Given the description of an element on the screen output the (x, y) to click on. 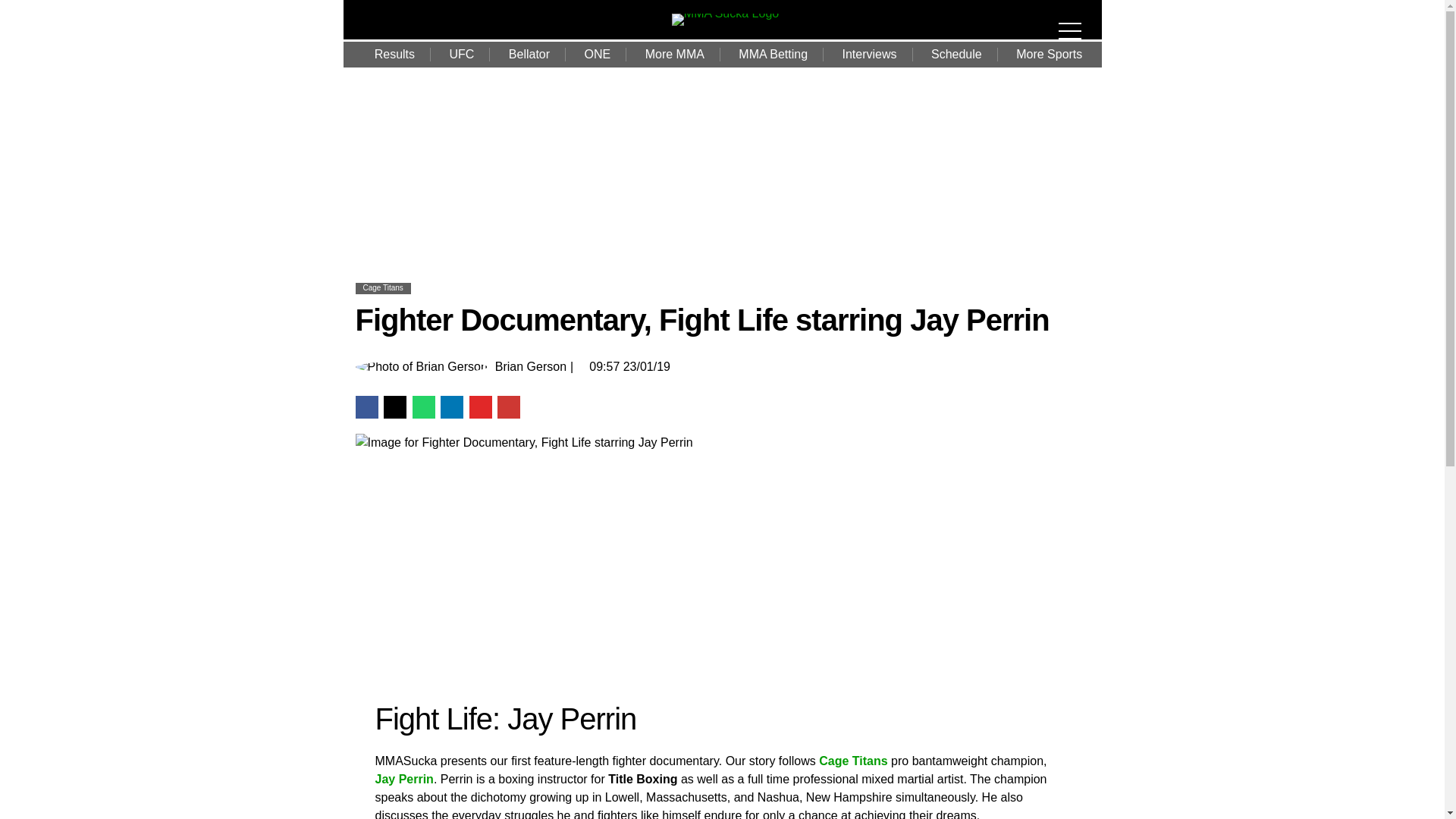
Back to the homepage (724, 12)
ONE (597, 54)
Menu (1074, 21)
Bellator (528, 54)
UFC (461, 54)
Results (394, 54)
More MMA (674, 54)
Fight Life starring Jay Perrin (564, 573)
